Given the description of an element on the screen output the (x, y) to click on. 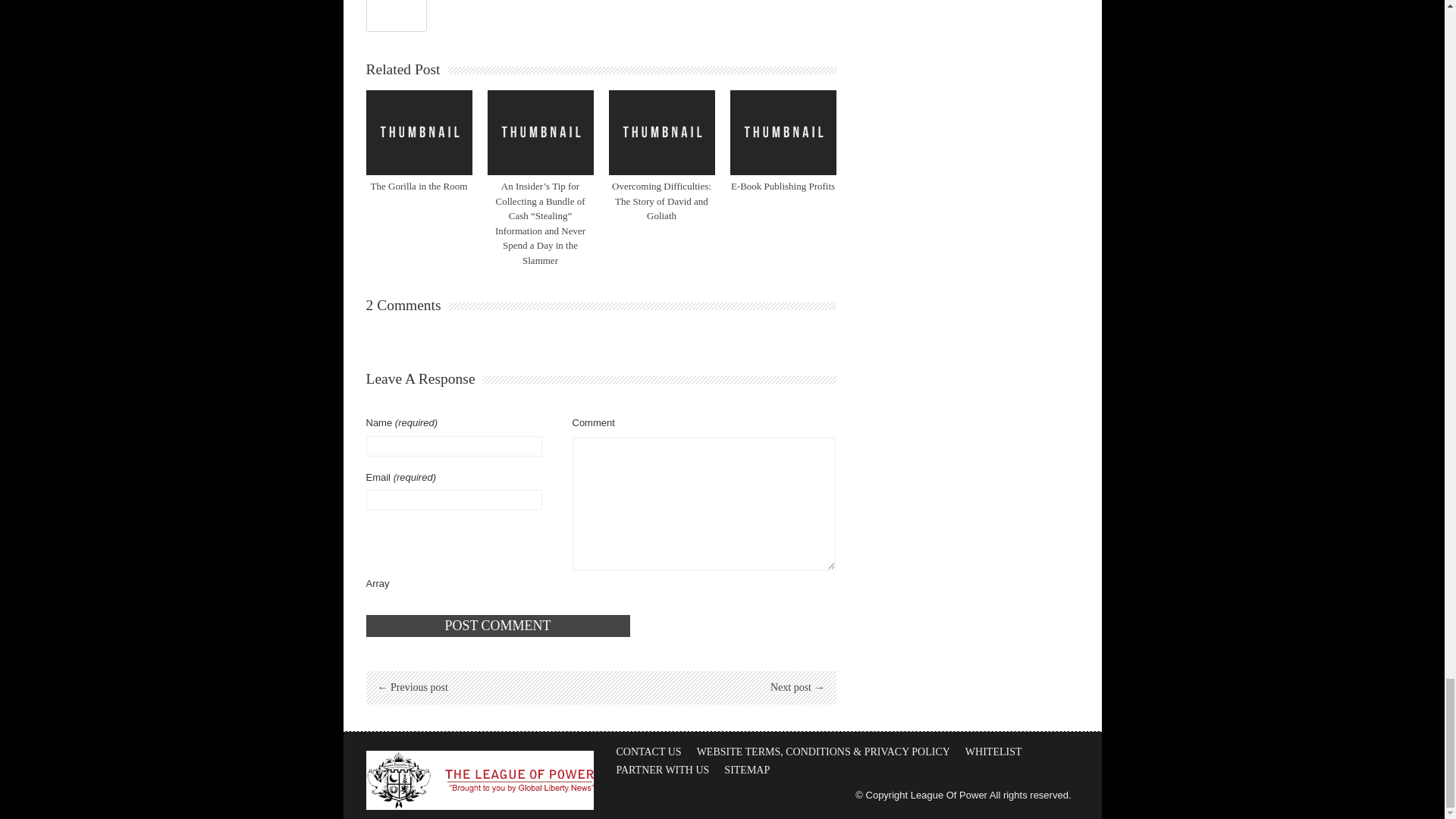
Overcoming Difficulties: The Story of David and Goliath (661, 200)
Post Comment (496, 626)
E-Book Publishing Profits (782, 132)
The Gorilla in the Room (419, 185)
E-Book Publishing Profits (782, 185)
Overcoming Difficulties: The Story of David and Goliath (661, 132)
The Gorilla in the Room (418, 132)
